Given the description of an element on the screen output the (x, y) to click on. 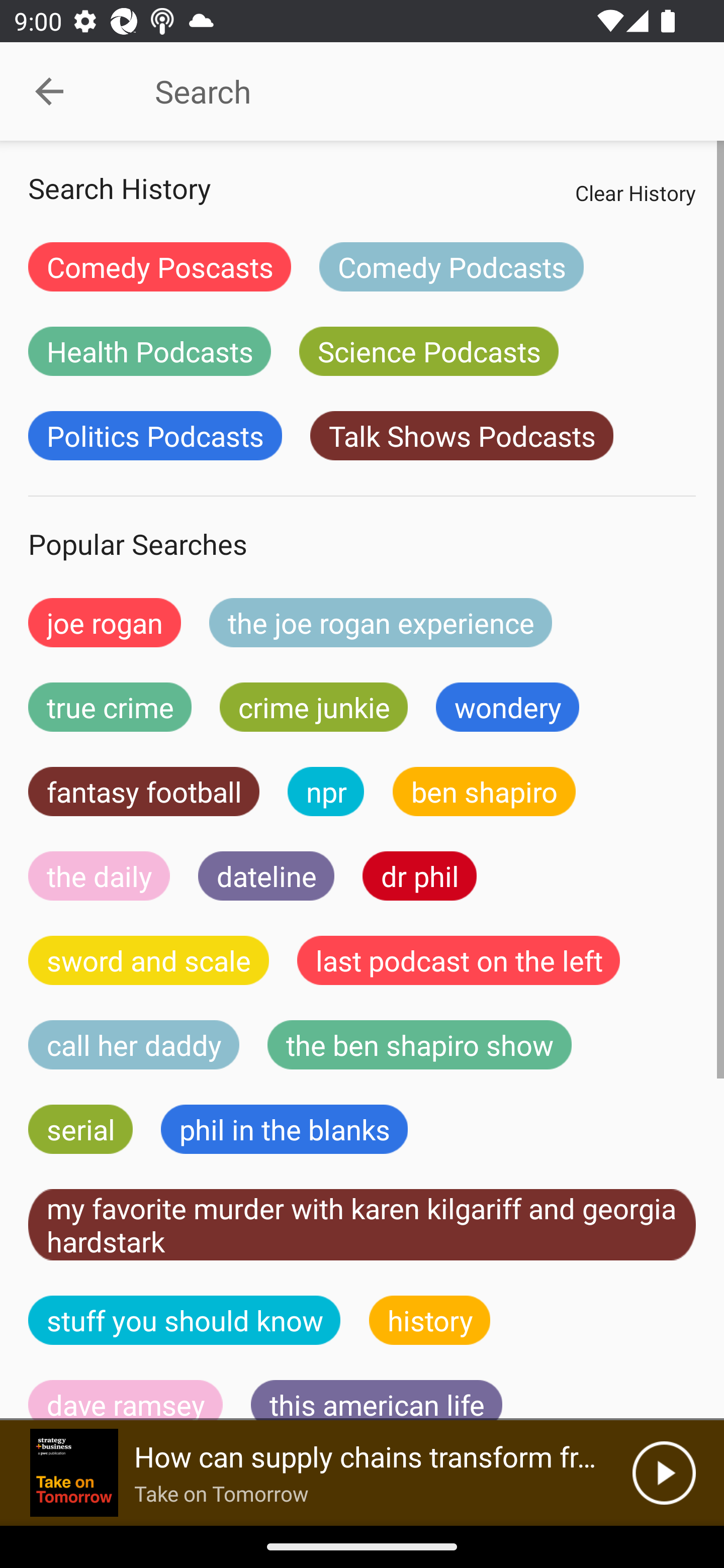
Collapse (49, 91)
Search (407, 91)
Clear History (634, 192)
Comedy Poscasts (159, 266)
Comedy Podcasts (451, 266)
Health Podcasts (149, 351)
Science Podcasts (428, 351)
Politics Podcasts (155, 435)
Talk Shows Podcasts (461, 435)
joe rogan (104, 622)
the joe rogan experience (380, 622)
true crime (109, 707)
crime junkie (313, 707)
wondery (507, 707)
fantasy football (143, 791)
npr (325, 791)
ben shapiro (483, 791)
the daily (99, 875)
dateline (266, 875)
dr phil (419, 875)
sword and scale (148, 960)
last podcast on the left (458, 960)
call her daddy (133, 1044)
the ben shapiro show (419, 1044)
serial (80, 1128)
phil in the blanks (283, 1128)
stuff you should know (184, 1320)
history (429, 1320)
dave ramsey (125, 1399)
this american life (376, 1399)
Play (663, 1472)
